Given the description of an element on the screen output the (x, y) to click on. 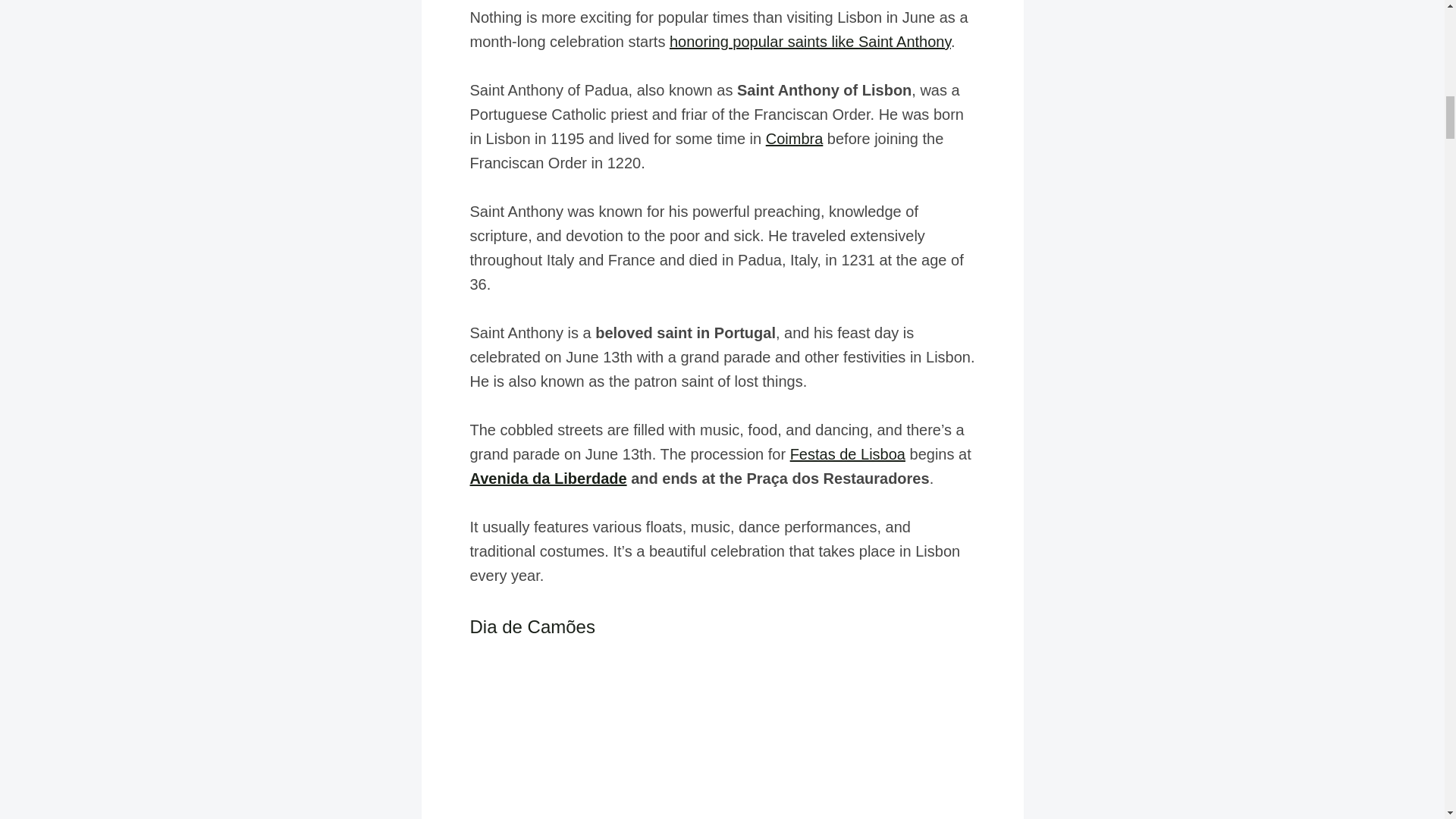
Avenida da Liberdade (548, 478)
Lisbon in June: 17 Things to Do and Pack 3 (722, 733)
honoring popular saints like Saint Anthony (809, 41)
Coimbra (794, 138)
Festas de Lisboa (847, 453)
